Given the description of an element on the screen output the (x, y) to click on. 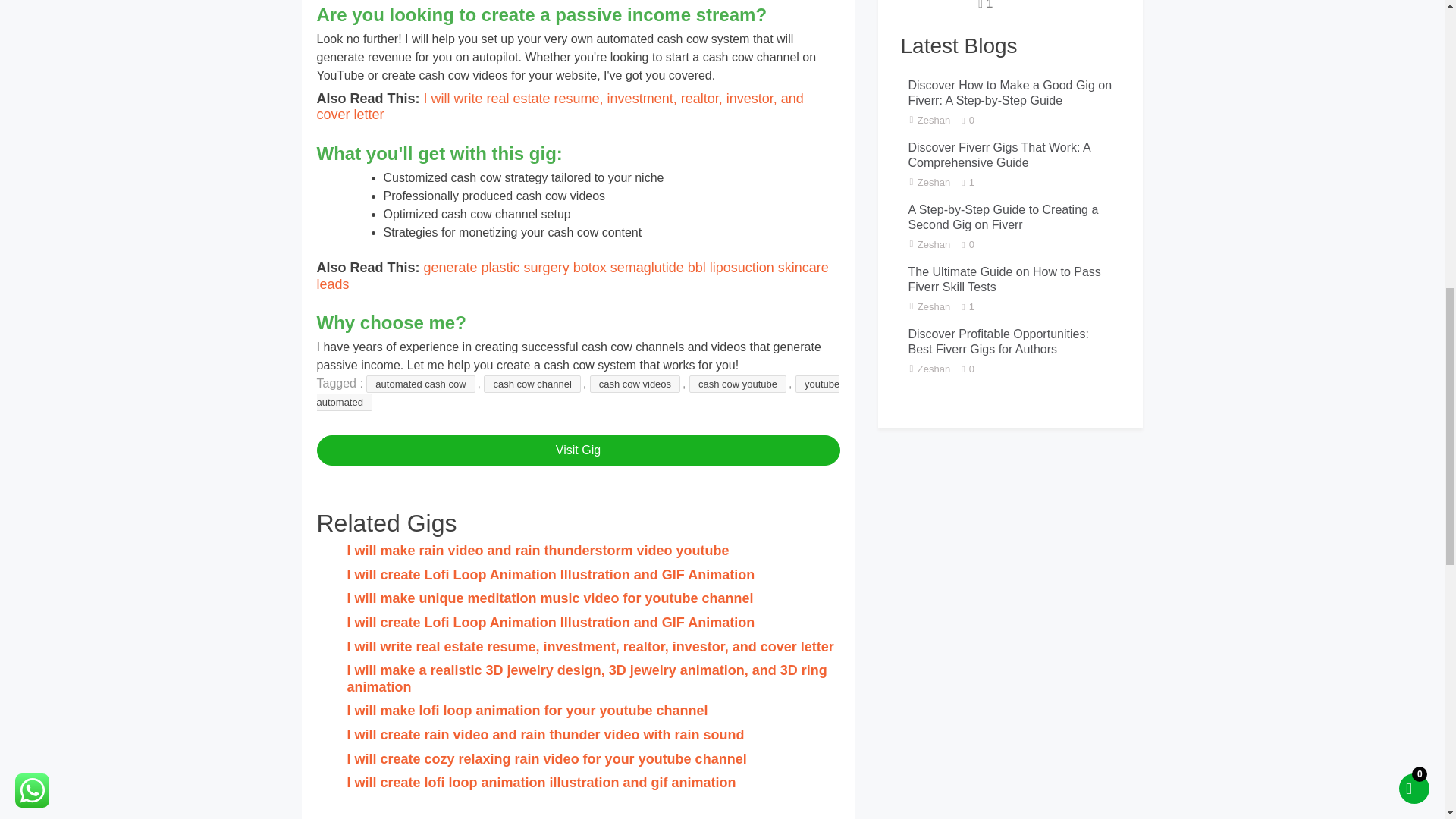
automated cash cow (420, 384)
I will make rain video and rain thunderstorm video youtube (538, 549)
youtube automated (578, 393)
cash cow youtube (737, 384)
I will make lofi loop animation for your youtube channel (527, 710)
